Given the description of an element on the screen output the (x, y) to click on. 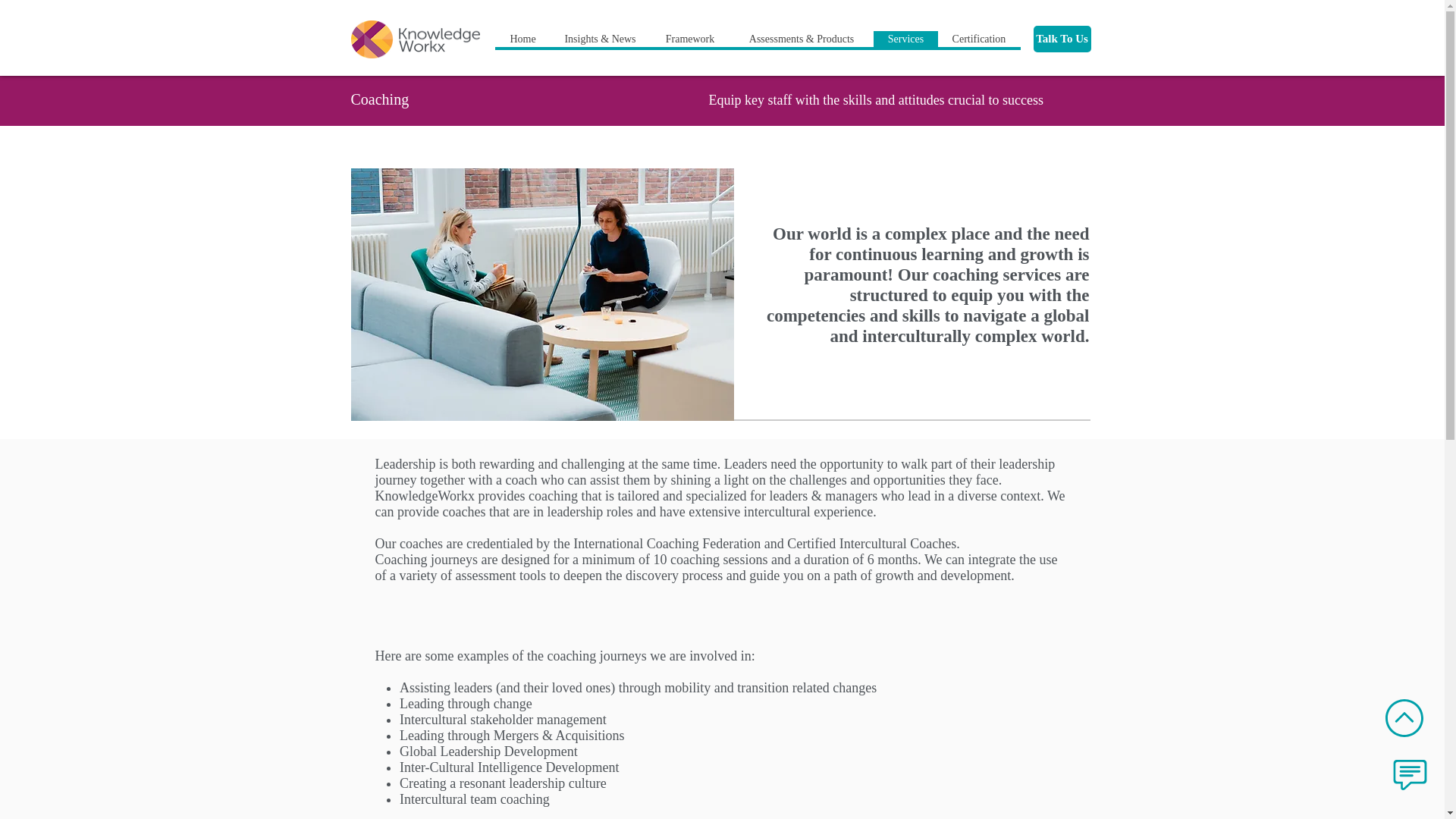
Framework (689, 38)
Home (523, 38)
Certification (978, 38)
Services (905, 38)
Talk To Us (1061, 38)
